Given the description of an element on the screen output the (x, y) to click on. 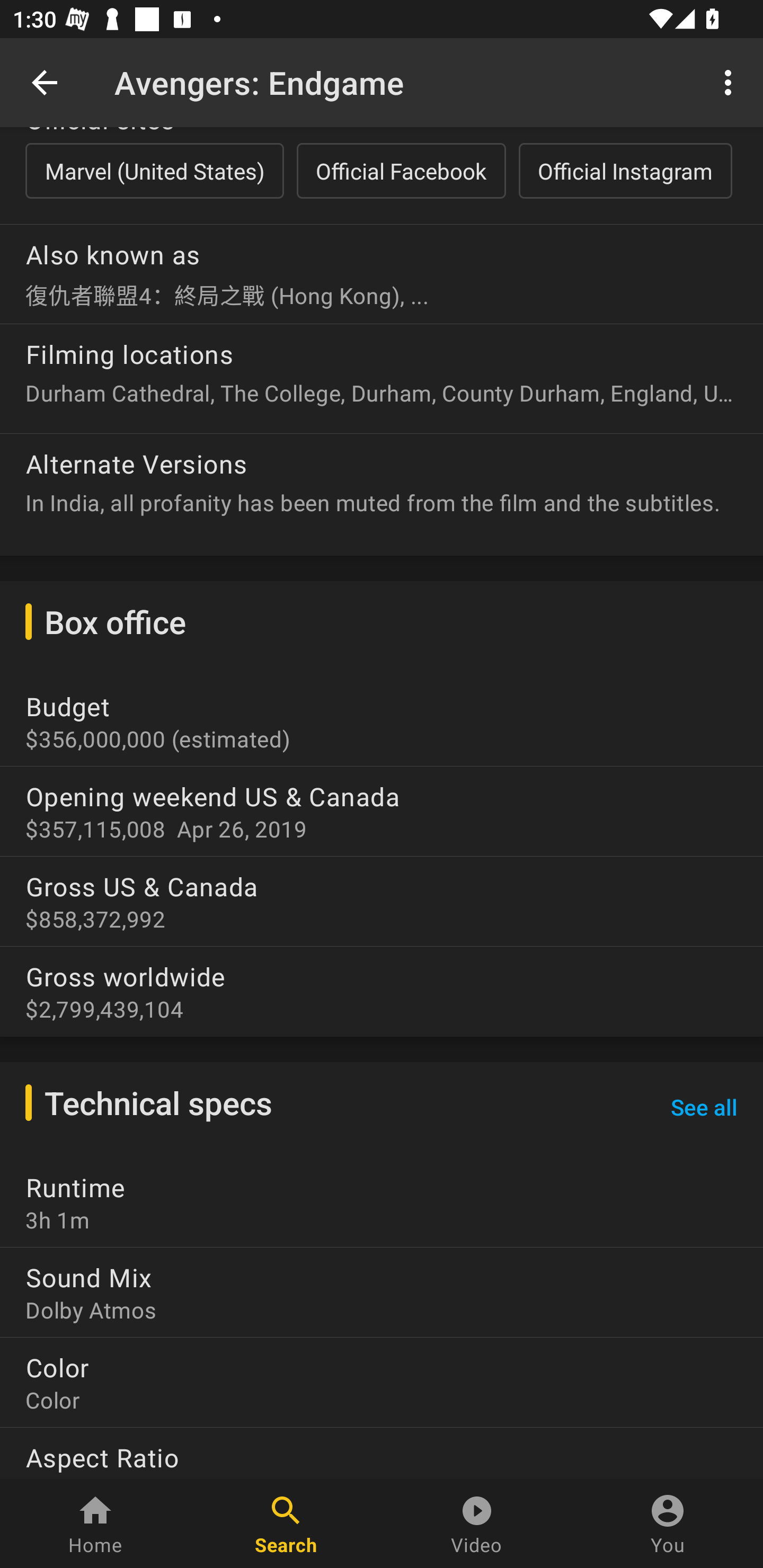
More options (731, 81)
Marvel (United States) (154, 170)
Official Facebook (400, 170)
Official Instagram (625, 170)
Also known as 復仇者聯盟4：終局之戰 (Hong Kong), ... (381, 267)
See all See all Technical specs (703, 1106)
Home (95, 1523)
Video (476, 1523)
You (667, 1523)
